Given the description of an element on the screen output the (x, y) to click on. 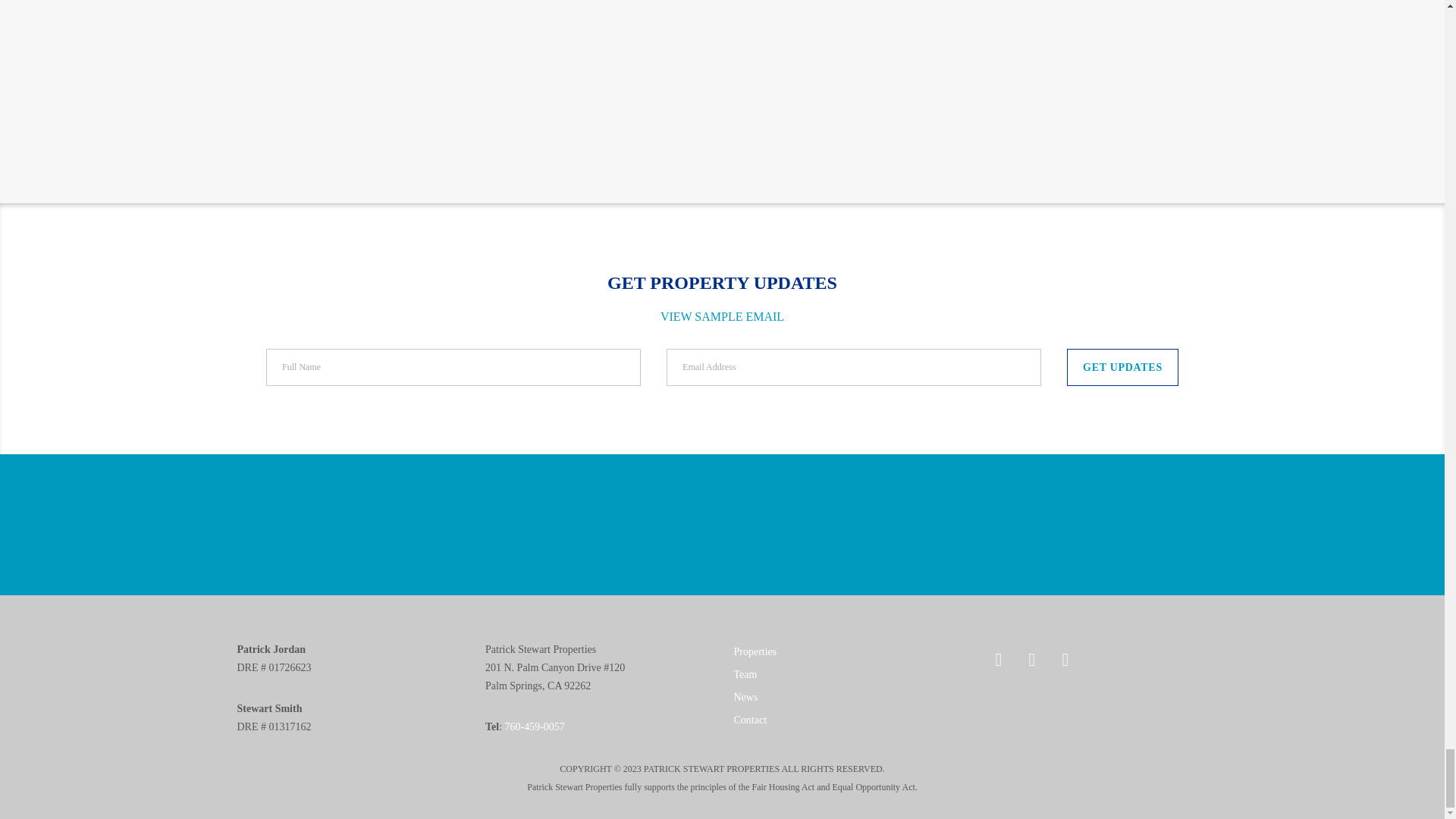
Properties (755, 651)
GET UPDATES (1122, 366)
Contact (750, 719)
VIEW SAMPLE EMAIL (722, 316)
760-459-0057 (534, 726)
Team (745, 674)
News (745, 696)
